Given the description of an element on the screen output the (x, y) to click on. 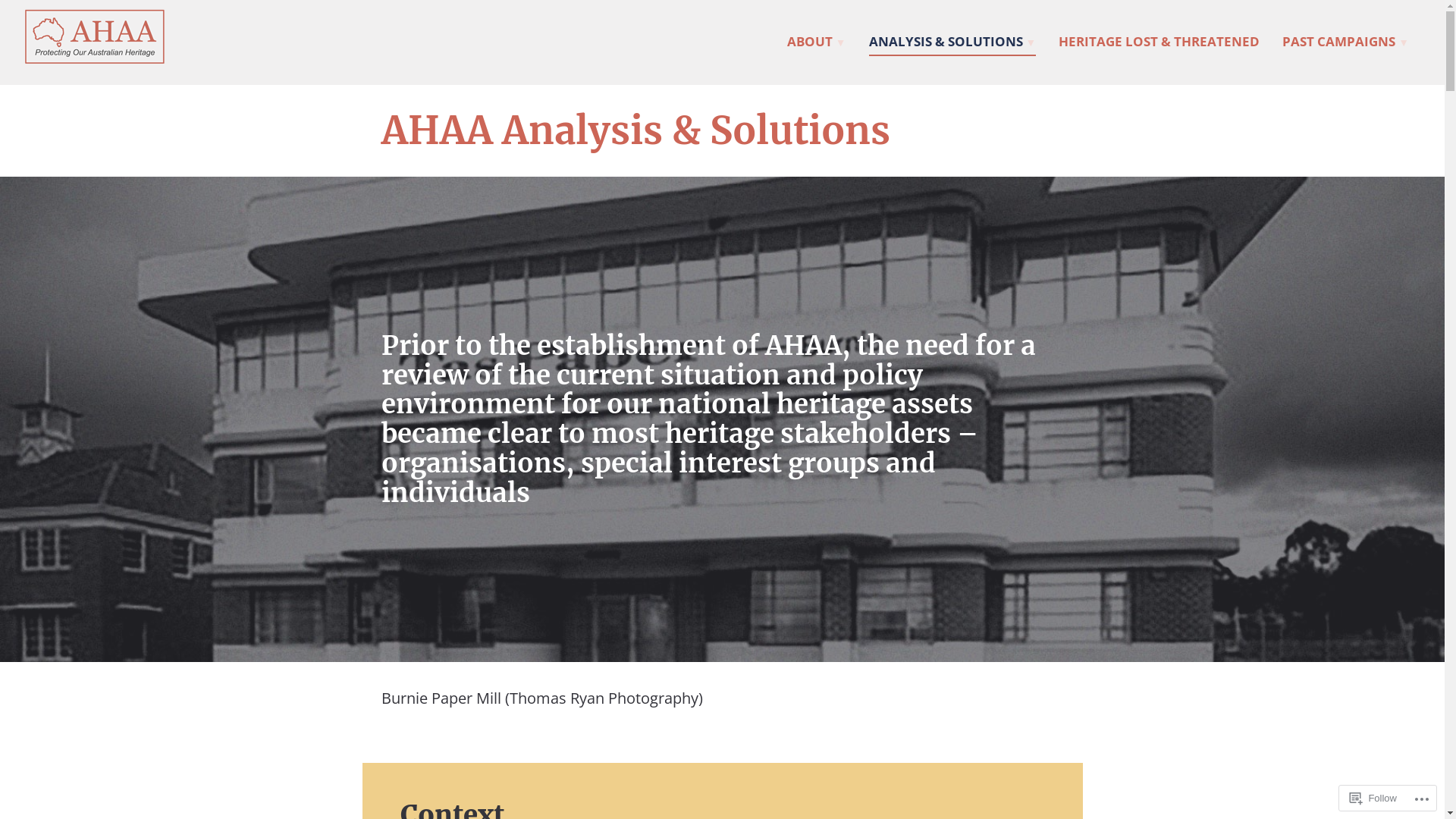
Follow Element type: text (1372, 797)
AHAA Element type: text (55, 88)
ANALYSIS & SOLUTIONS Element type: text (952, 44)
ABOUT Element type: text (816, 44)
PAST CAMPAIGNS Element type: text (1345, 44)
HERITAGE LOST & THREATENED Element type: text (1158, 44)
